Given the description of an element on the screen output the (x, y) to click on. 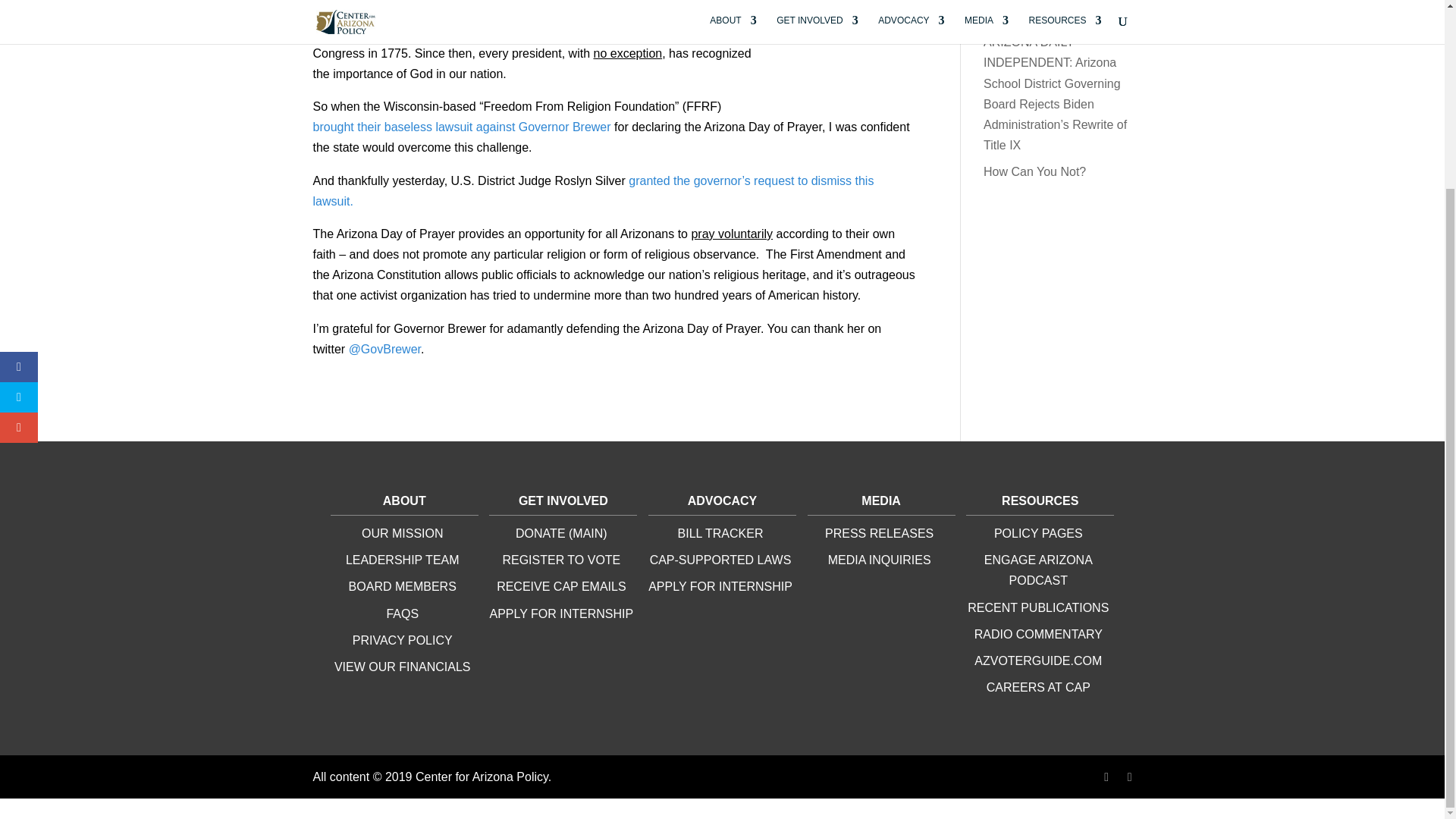
gavel (840, 58)
